Given the description of an element on the screen output the (x, y) to click on. 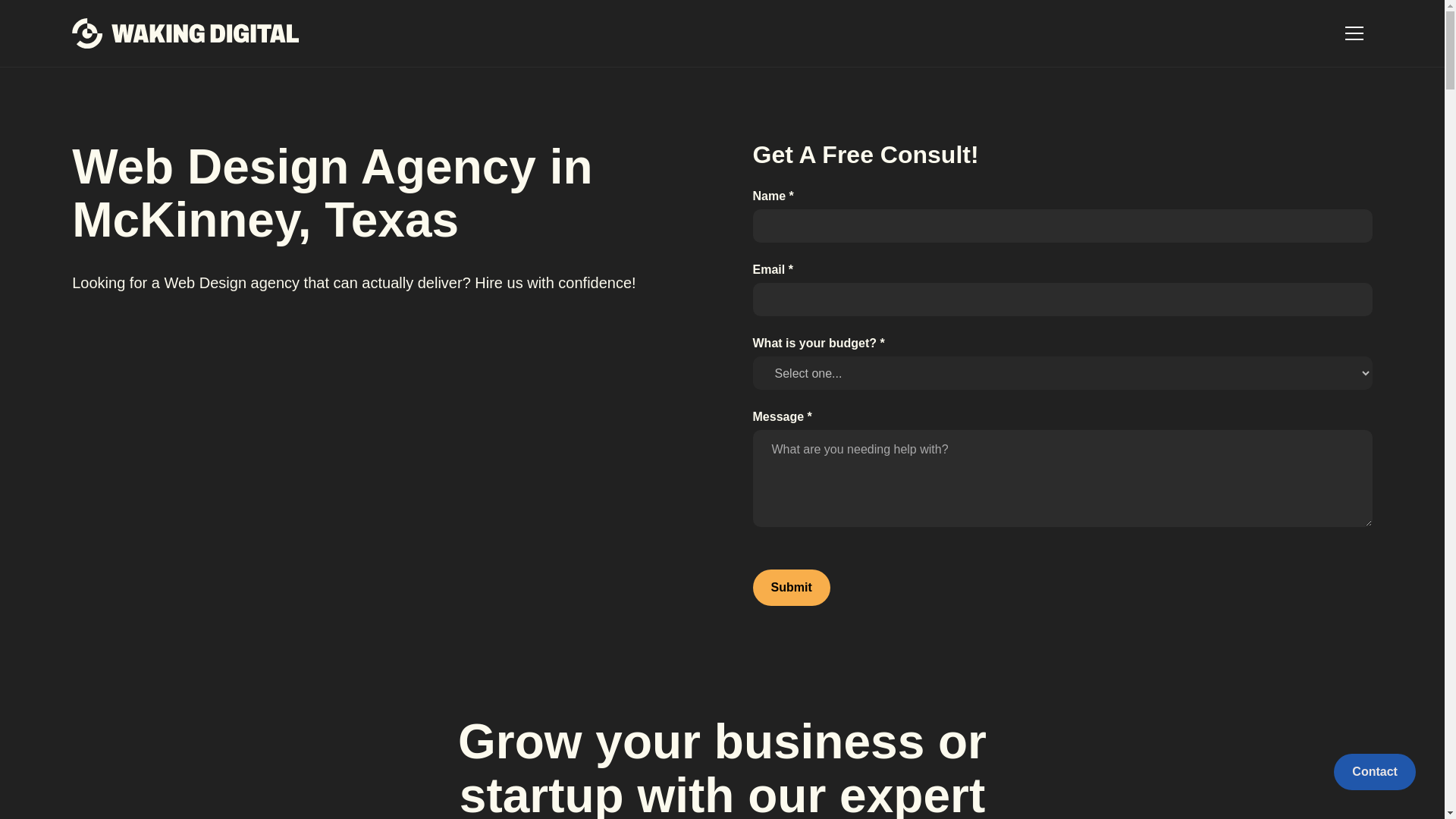
Submit (790, 587)
Submit (790, 587)
